Given the description of an element on the screen output the (x, y) to click on. 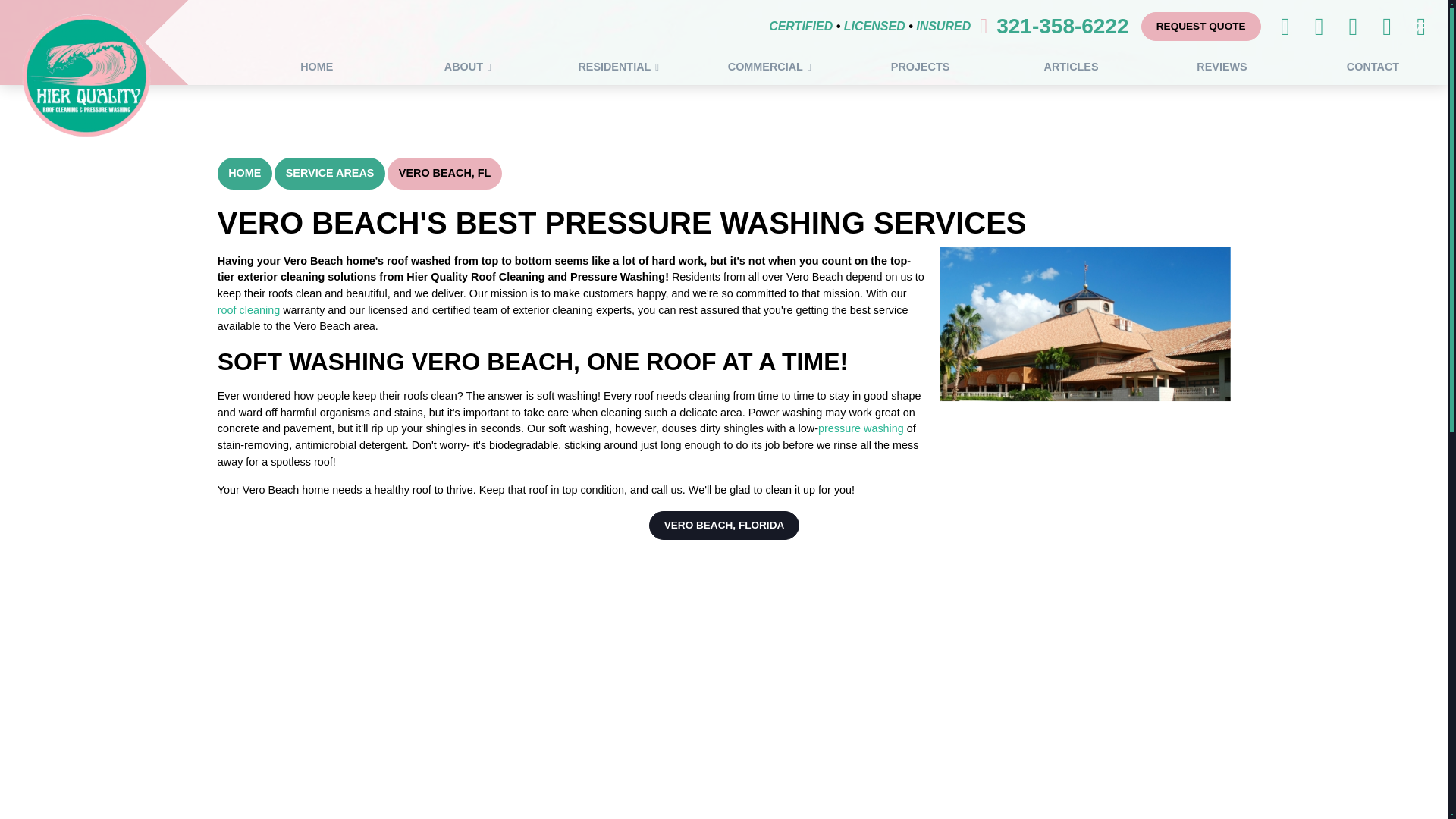
HOME (316, 67)
RESIDENTIAL (617, 67)
ABOUT (467, 67)
REQUEST QUOTE (1200, 26)
321-358-6222 (1061, 25)
